Given the description of an element on the screen output the (x, y) to click on. 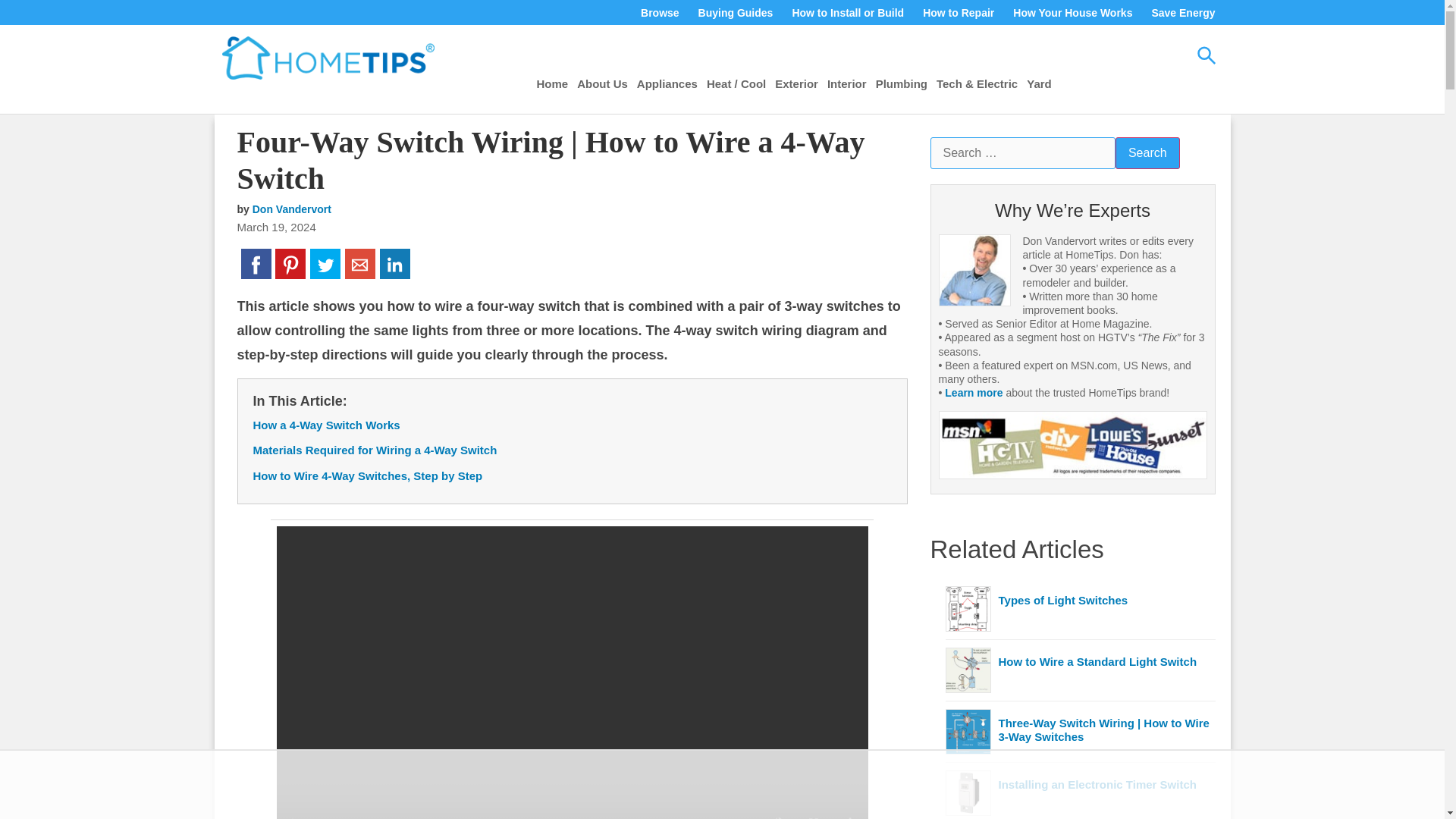
How to Repair (957, 12)
Buying Guides (735, 12)
Search (1147, 152)
Search (1147, 152)
Appliances (666, 83)
About Us (601, 83)
Search Icon A magnifying glass icon. (1205, 54)
How Your House Works (1072, 12)
About Us (601, 83)
How to Install or Build (847, 12)
Home (552, 83)
Appliances (667, 83)
Home (553, 83)
Save Energy (1182, 12)
Browse (659, 12)
